Given the description of an element on the screen output the (x, y) to click on. 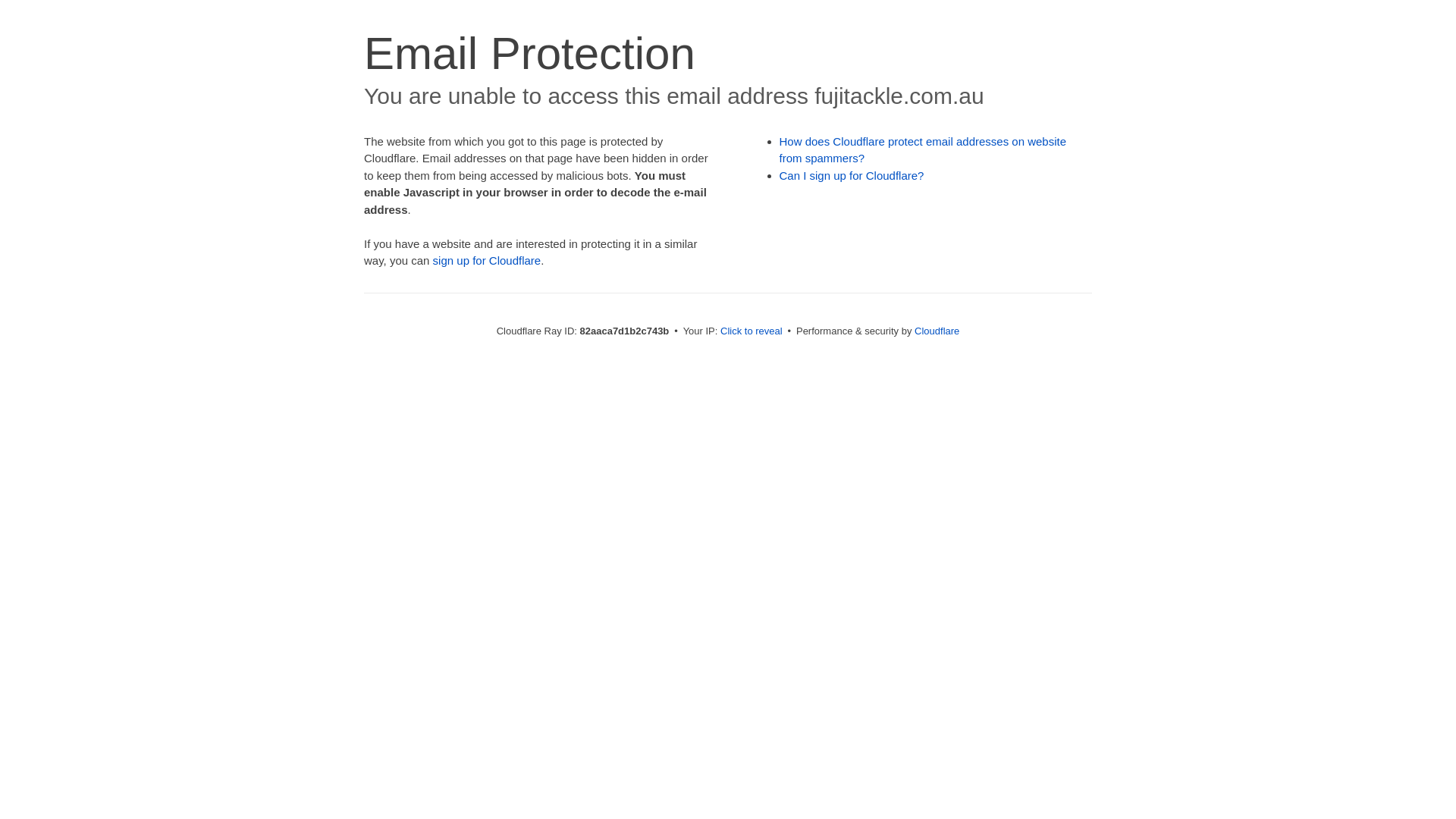
Can I sign up for Cloudflare? Element type: text (851, 175)
Cloudflare Element type: text (936, 330)
Click to reveal Element type: text (751, 330)
sign up for Cloudflare Element type: text (487, 260)
